Given the description of an element on the screen output the (x, y) to click on. 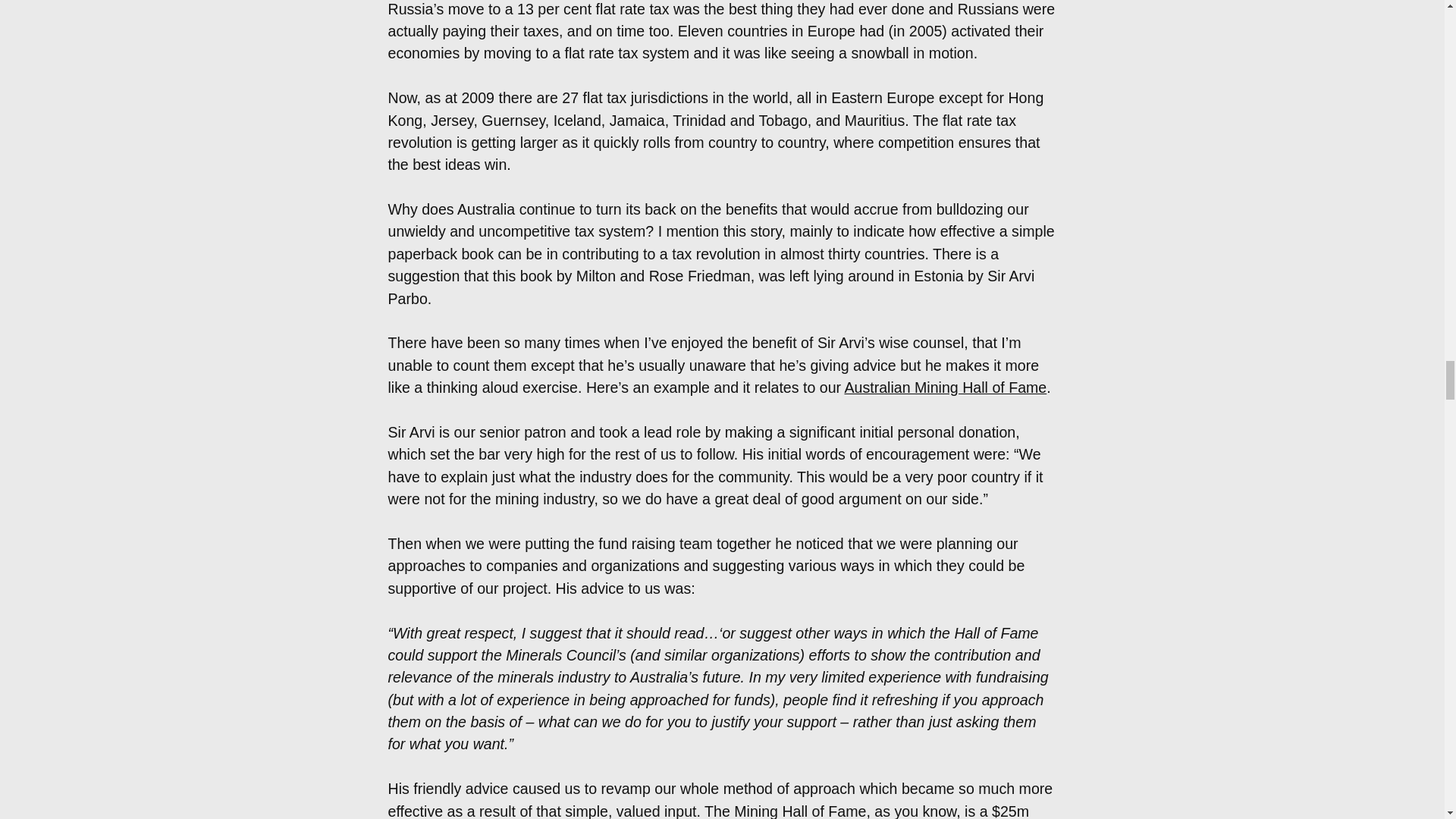
Australian Mining Hall of Fame (945, 387)
